Given the description of an element on the screen output the (x, y) to click on. 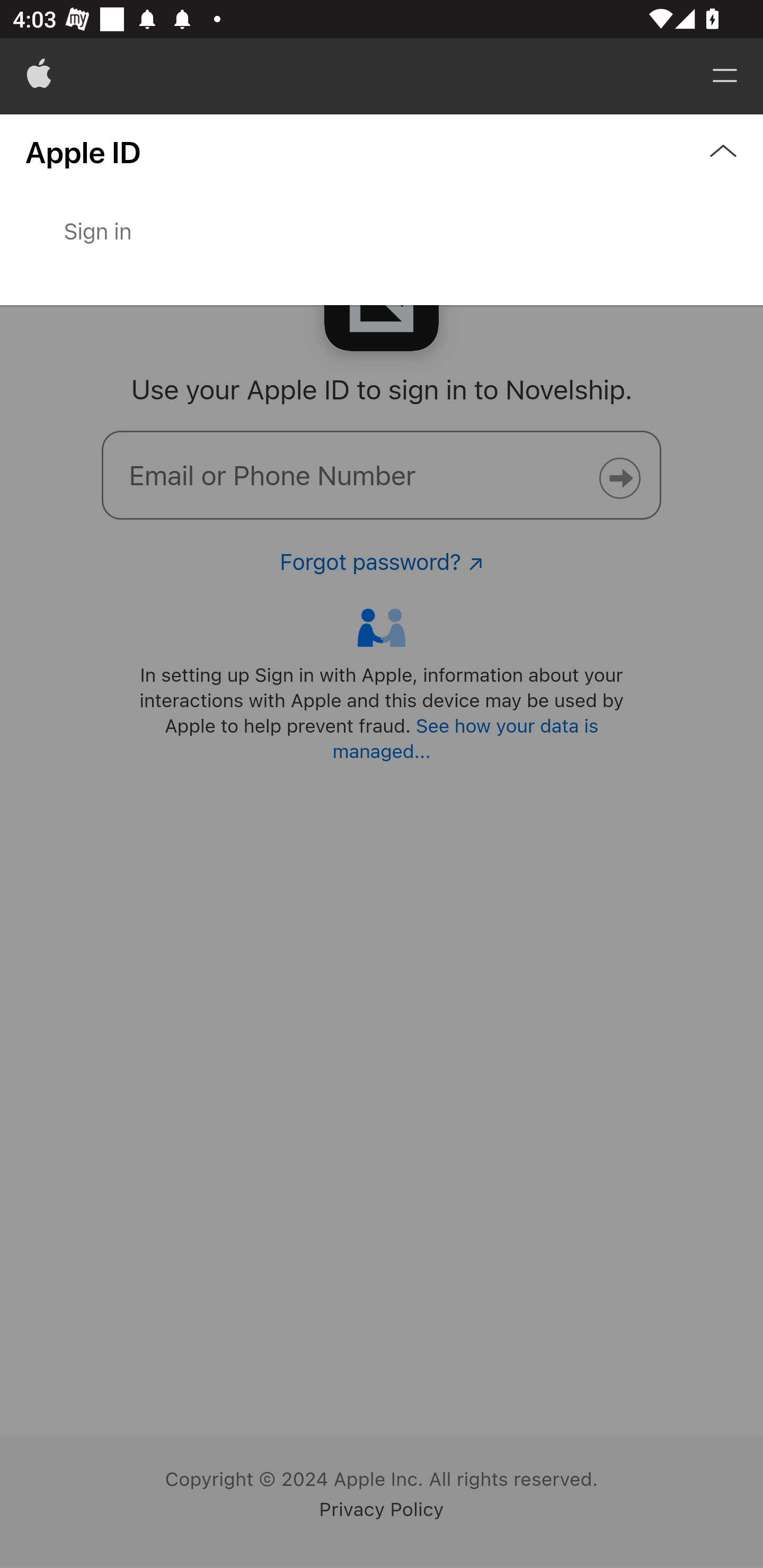
Close Menu (381, 209)
Sign in (381, 248)
